Given the description of an element on the screen output the (x, y) to click on. 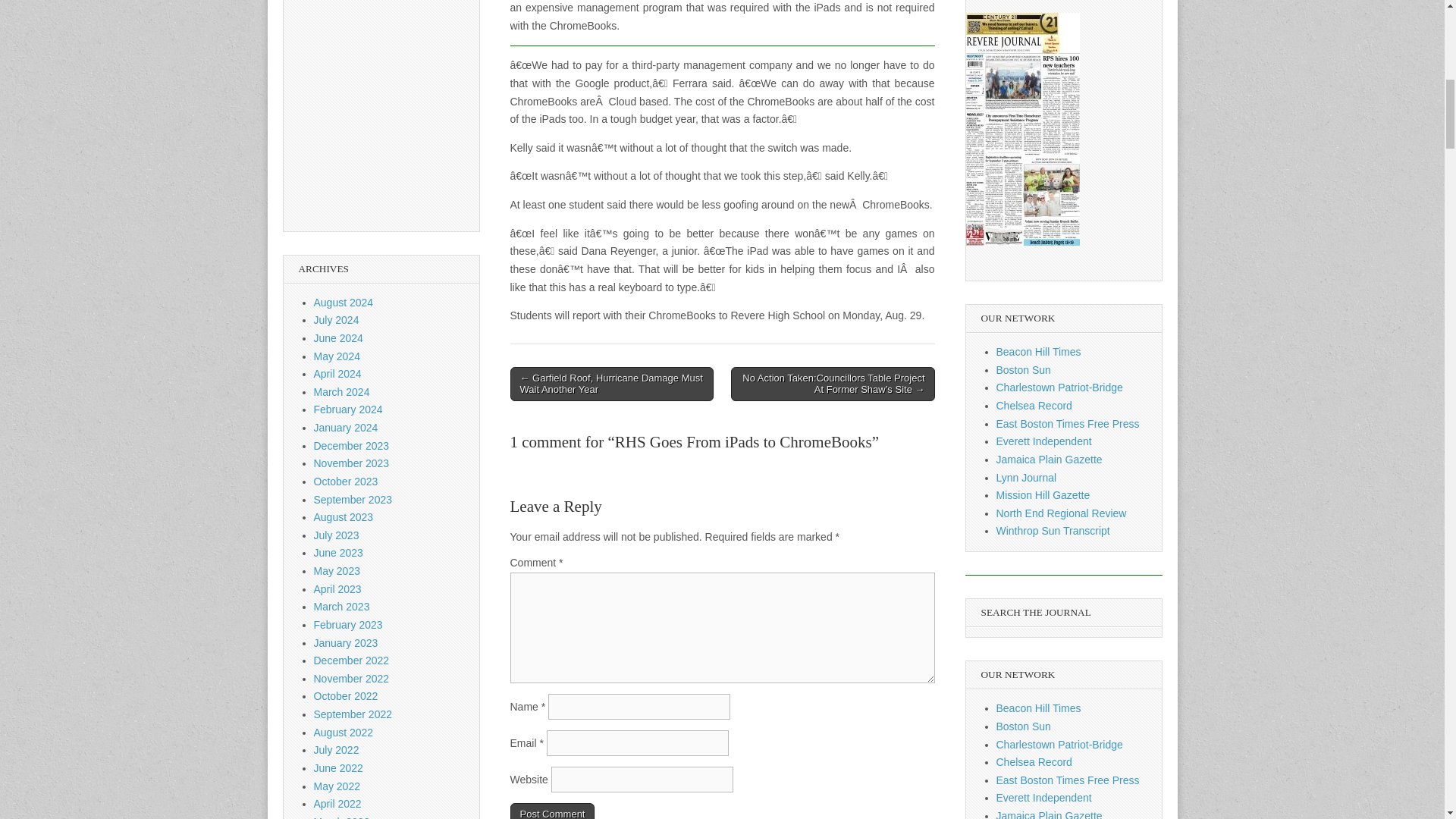
Everett Independent (1043, 797)
Winthrop Sun Transcript (1052, 530)
East Boston Times Free Press (1067, 779)
Post Comment (551, 811)
Lynn Journal (1026, 477)
Chelsea Record (1033, 405)
East Boston Times Free Press (1067, 423)
Everett Independent (1043, 440)
Chelsea Record (1033, 761)
Post Comment (551, 811)
